Given the description of an element on the screen output the (x, y) to click on. 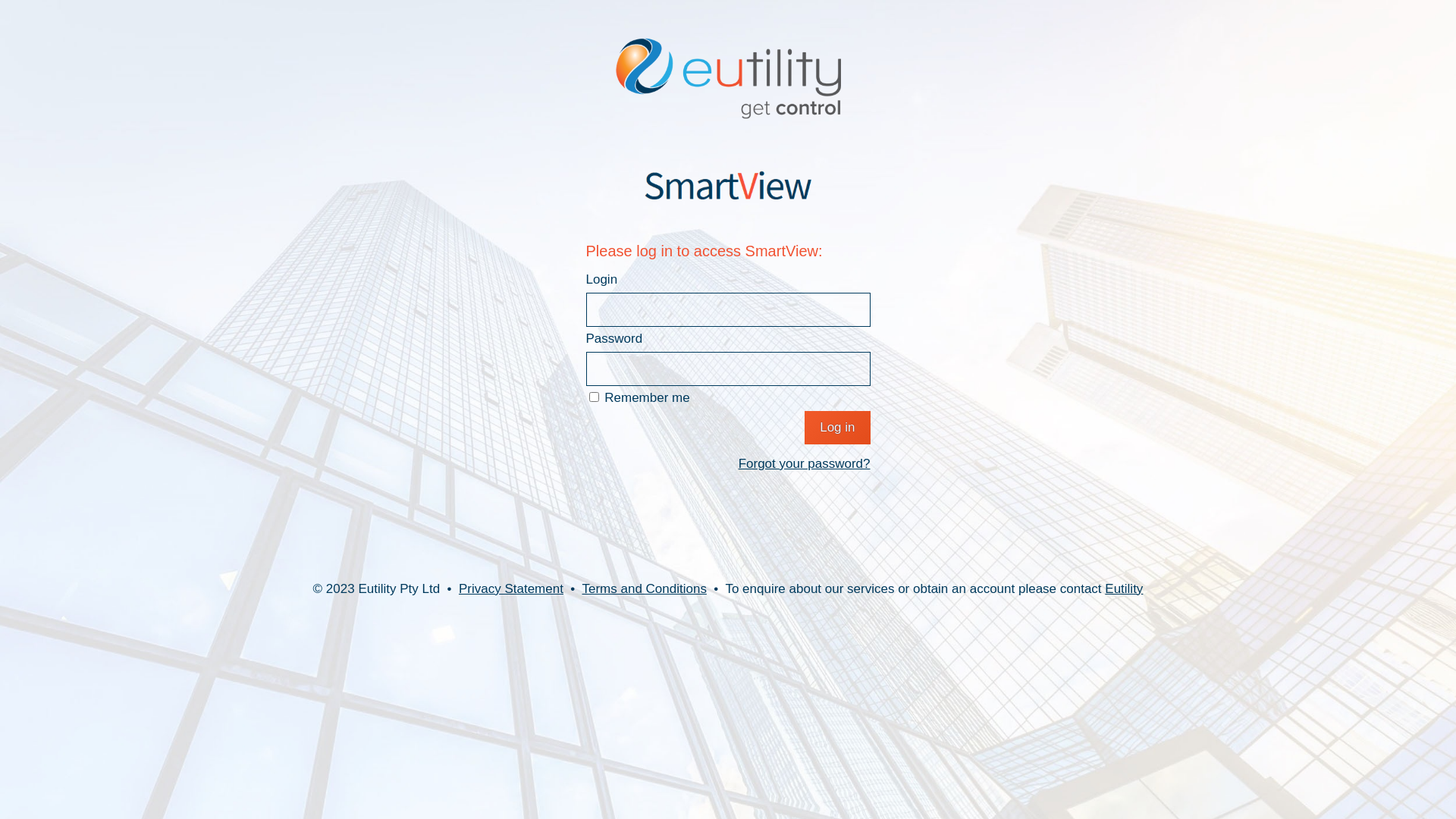
Eutility Element type: text (1123, 587)
Privacy Statement Element type: text (510, 587)
Forgot your password? Element type: text (727, 464)
Log in Element type: text (836, 427)
Terms and Conditions Element type: text (643, 587)
